Given the description of an element on the screen output the (x, y) to click on. 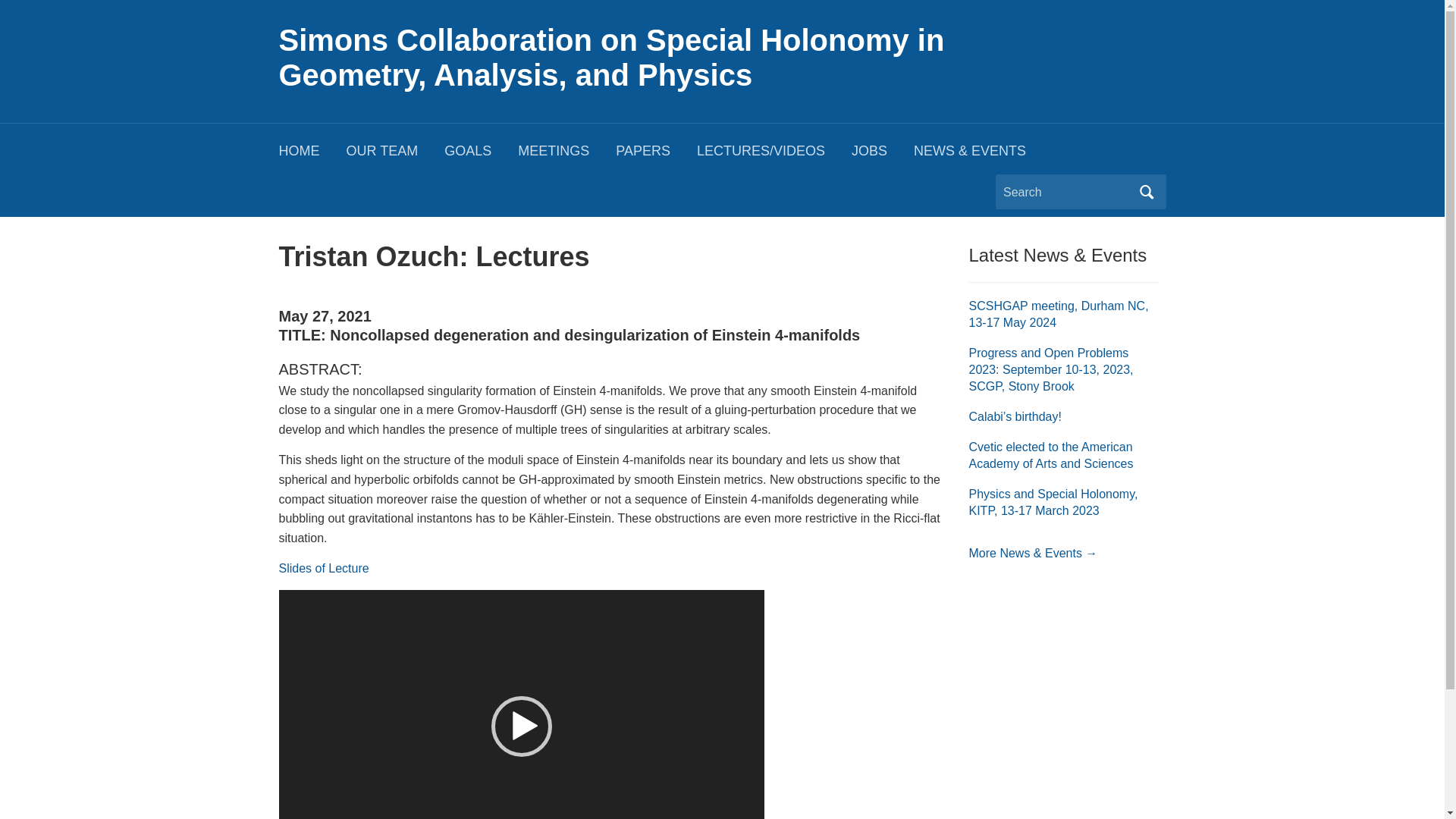
OUR TEAM (395, 154)
Cvetic elected to the American Academy of Arts and Sciences (1051, 455)
Search (1146, 191)
SCSHGAP meeting, Durham NC, 13-17 May 2024 (1058, 314)
HOME (312, 154)
MEETINGS (566, 154)
GOALS (481, 154)
PAPERS (656, 154)
Physics and Special Holonomy, KITP, 13-17 March 2023 (1053, 501)
JOBS (882, 154)
Slides of Lecture (324, 567)
